Given the description of an element on the screen output the (x, y) to click on. 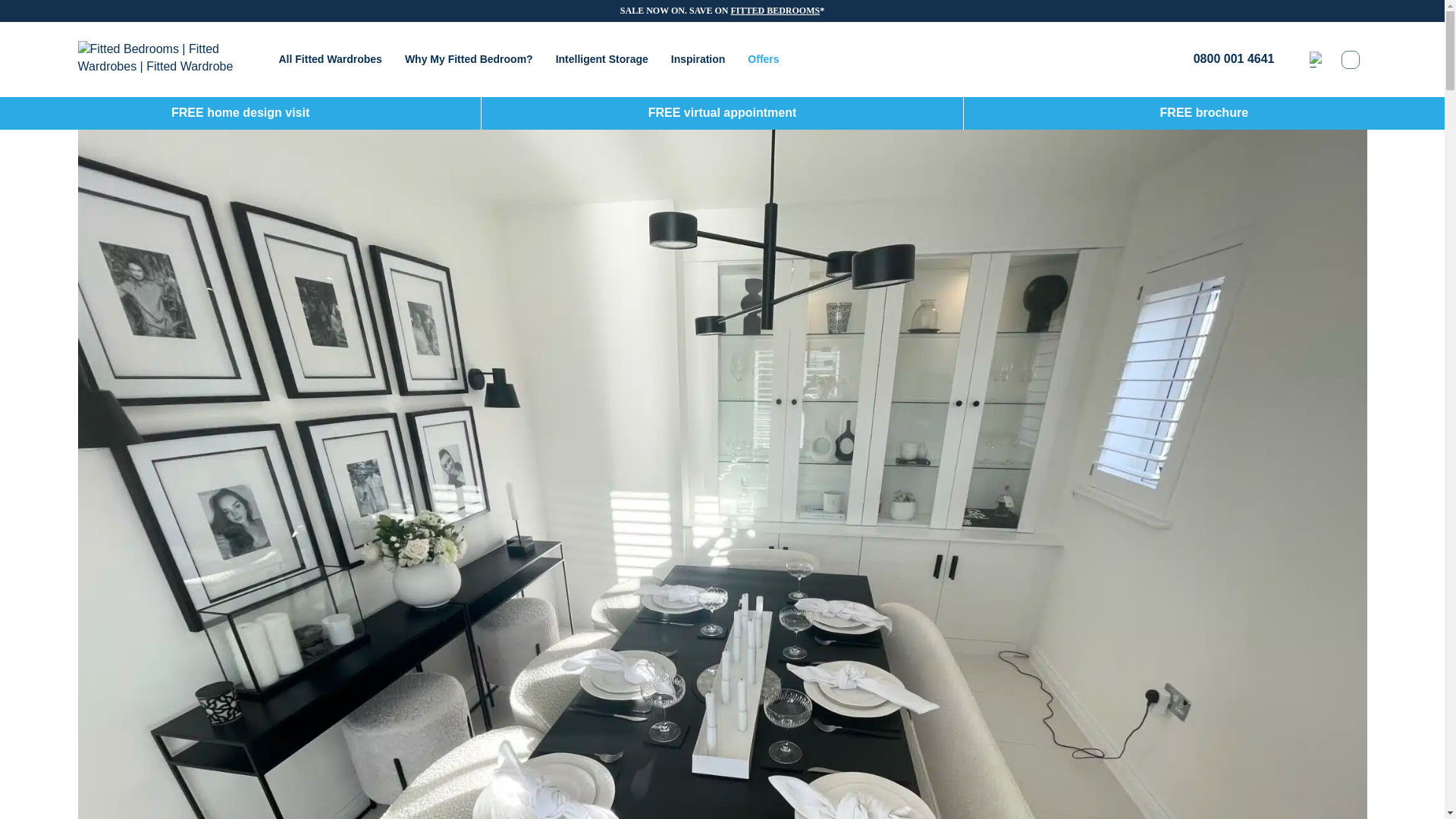
0800 001 4641 (1222, 58)
Why My Fitted Bedroom? (468, 59)
Inspiration (698, 59)
All Fitted Wardrobes (330, 59)
Offers (763, 59)
Intelligent Storage (601, 59)
